Given the description of an element on the screen output the (x, y) to click on. 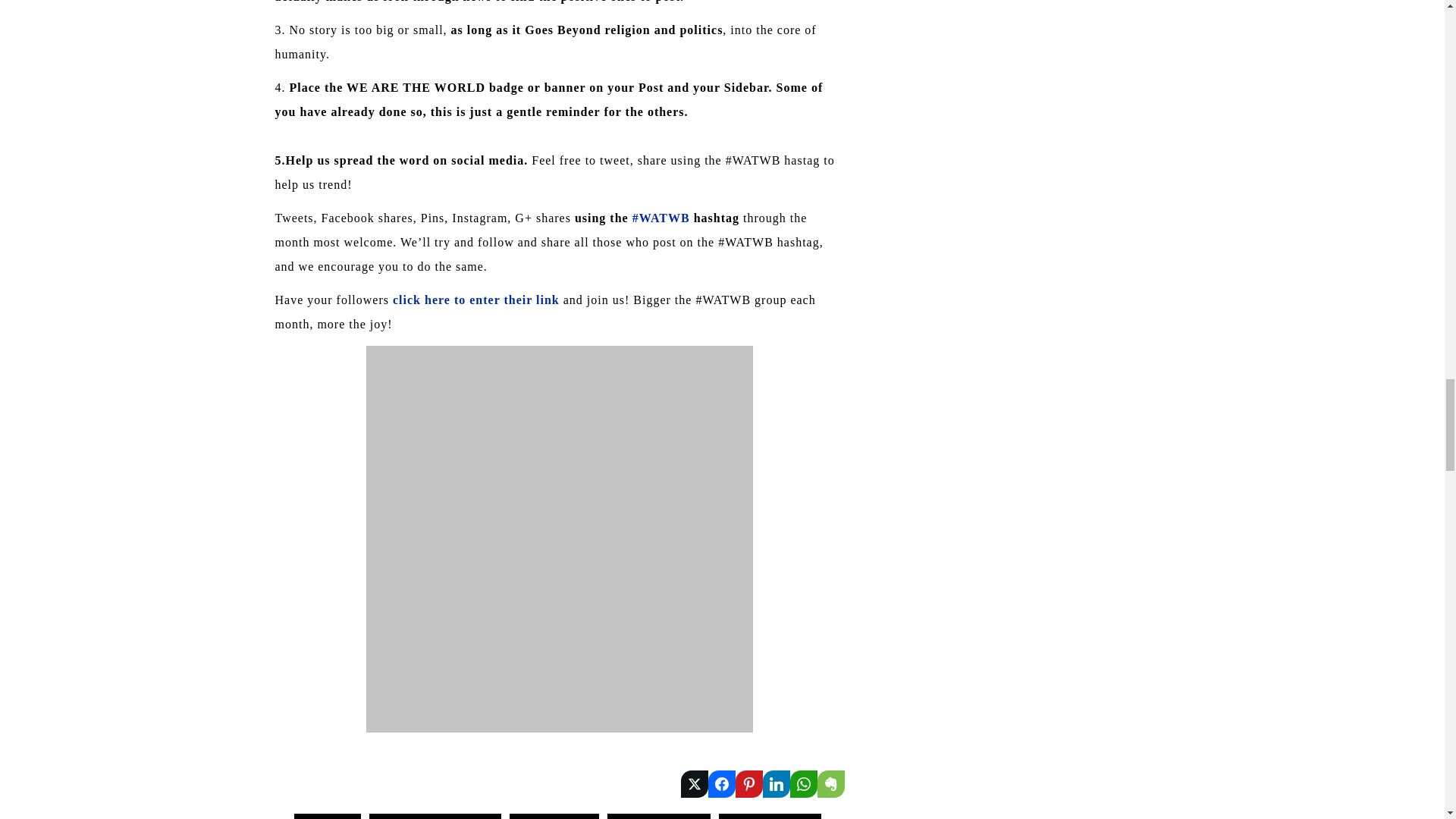
Plant more trees (658, 816)
Share on Indywrites (776, 783)
Share on InderpreetUppal (721, 783)
Share on indywrites (694, 783)
mother nature (553, 816)
In Darkness Be Light (434, 816)
click here to enter their link (476, 299)
Share on Indywrites (748, 783)
Share on WhatsApp (803, 783)
